Given the description of an element on the screen output the (x, y) to click on. 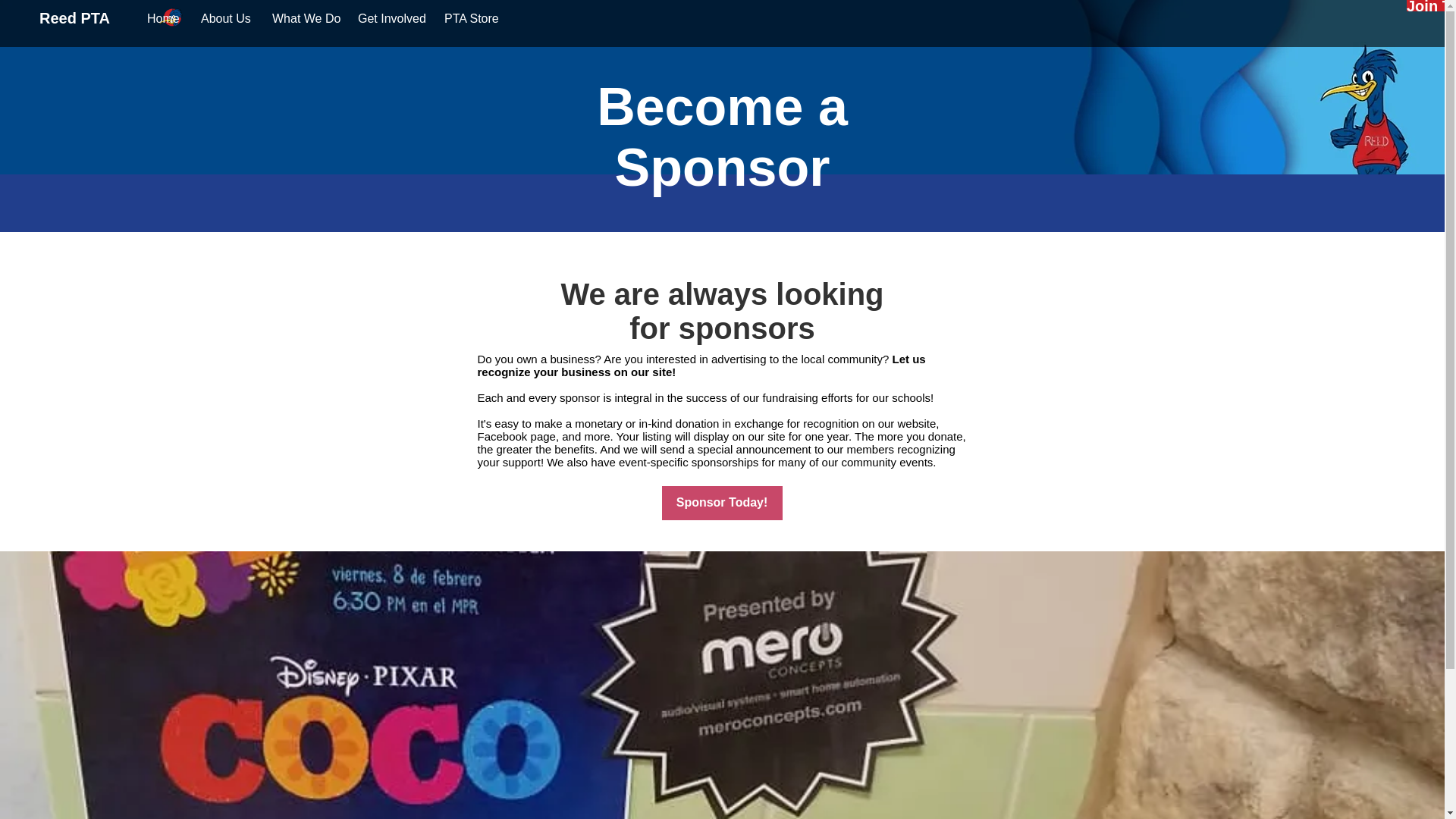
Sponsor Today! (721, 503)
What We Do (303, 18)
Home (162, 18)
PTA Store (469, 18)
About Us (224, 18)
Reed PTA (74, 17)
Get Involved (389, 18)
